Given the description of an element on the screen output the (x, y) to click on. 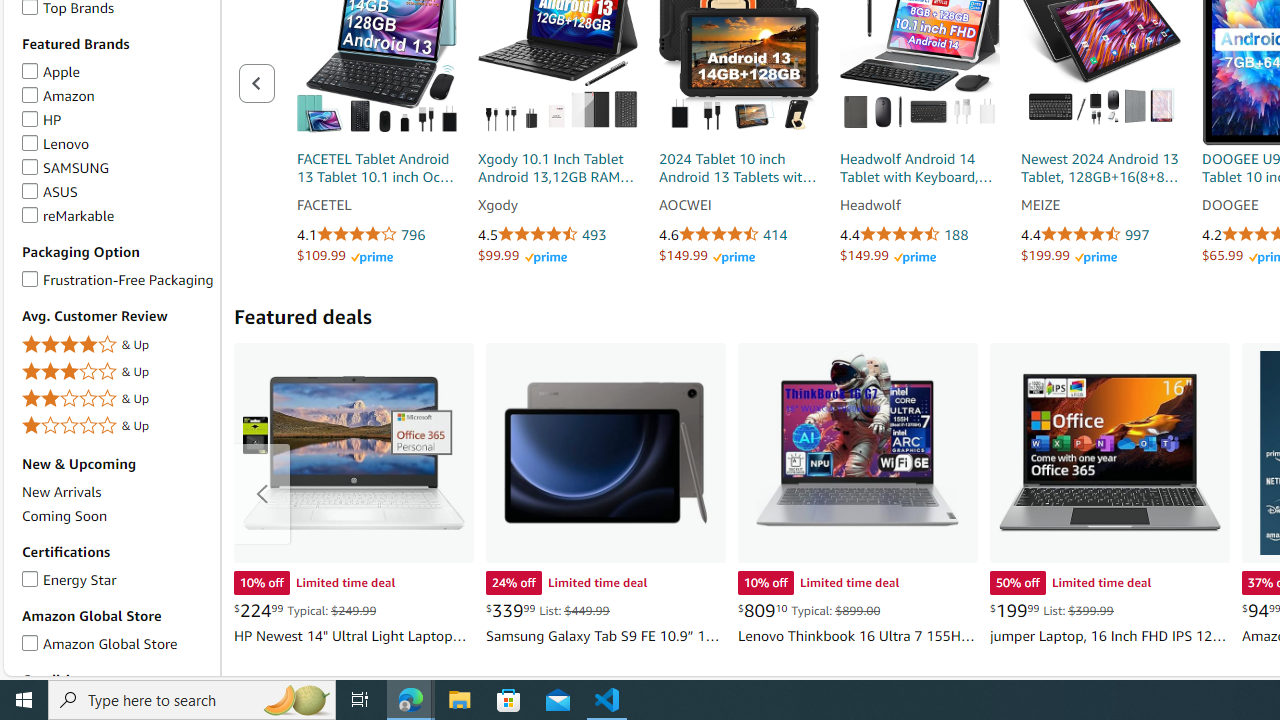
4.5 out of 5 stars 493 ratings (557, 235)
Amazon Global Store (29, 640)
Apple Apple (50, 70)
Lenovo Lenovo (55, 142)
Coming Soon (64, 515)
4 Stars & Up (117, 344)
Energy Star (29, 575)
1 Star & Up& Up (117, 425)
HP Laptop, 192GB Storage(64GB eMMC+128GB Micro SD) (353, 452)
3 Stars & Up& Up (117, 371)
Energy Star Energy Star (68, 578)
